Given the description of an element on the screen output the (x, y) to click on. 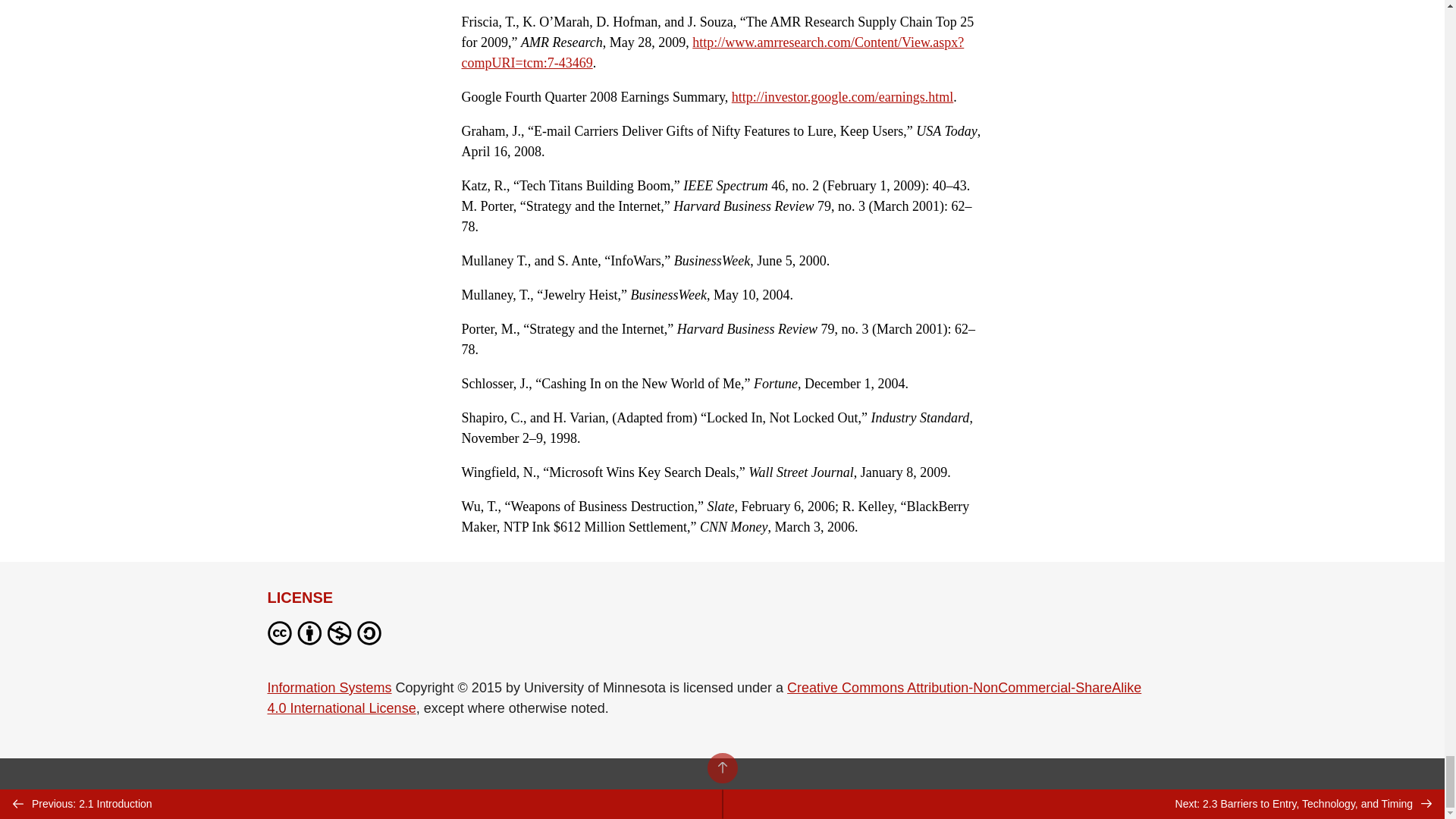
Information Systems (328, 687)
